Given the description of an element on the screen output the (x, y) to click on. 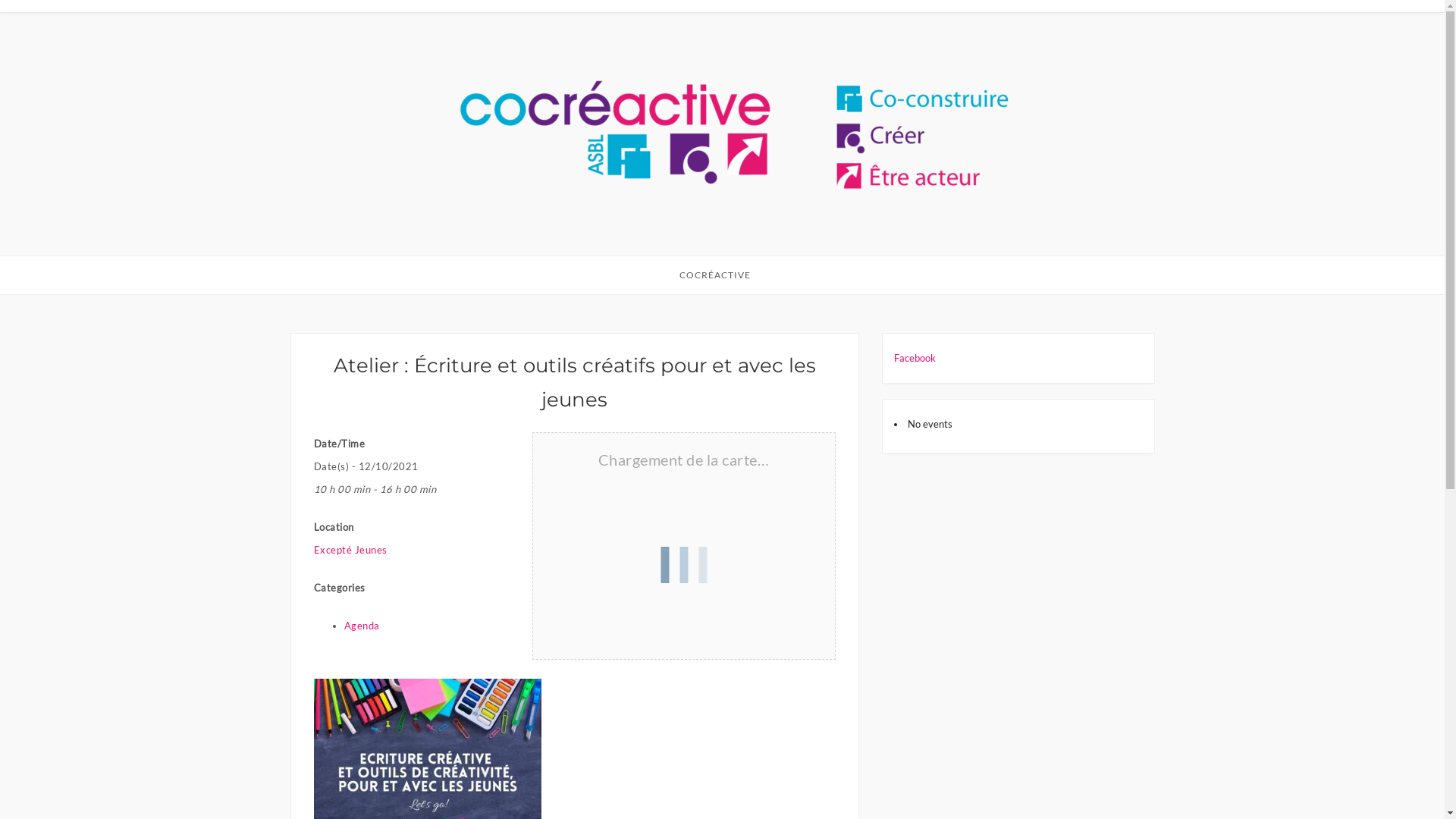
Agenda Element type: text (361, 625)
Facebook Element type: text (914, 357)
